Given the description of an element on the screen output the (x, y) to click on. 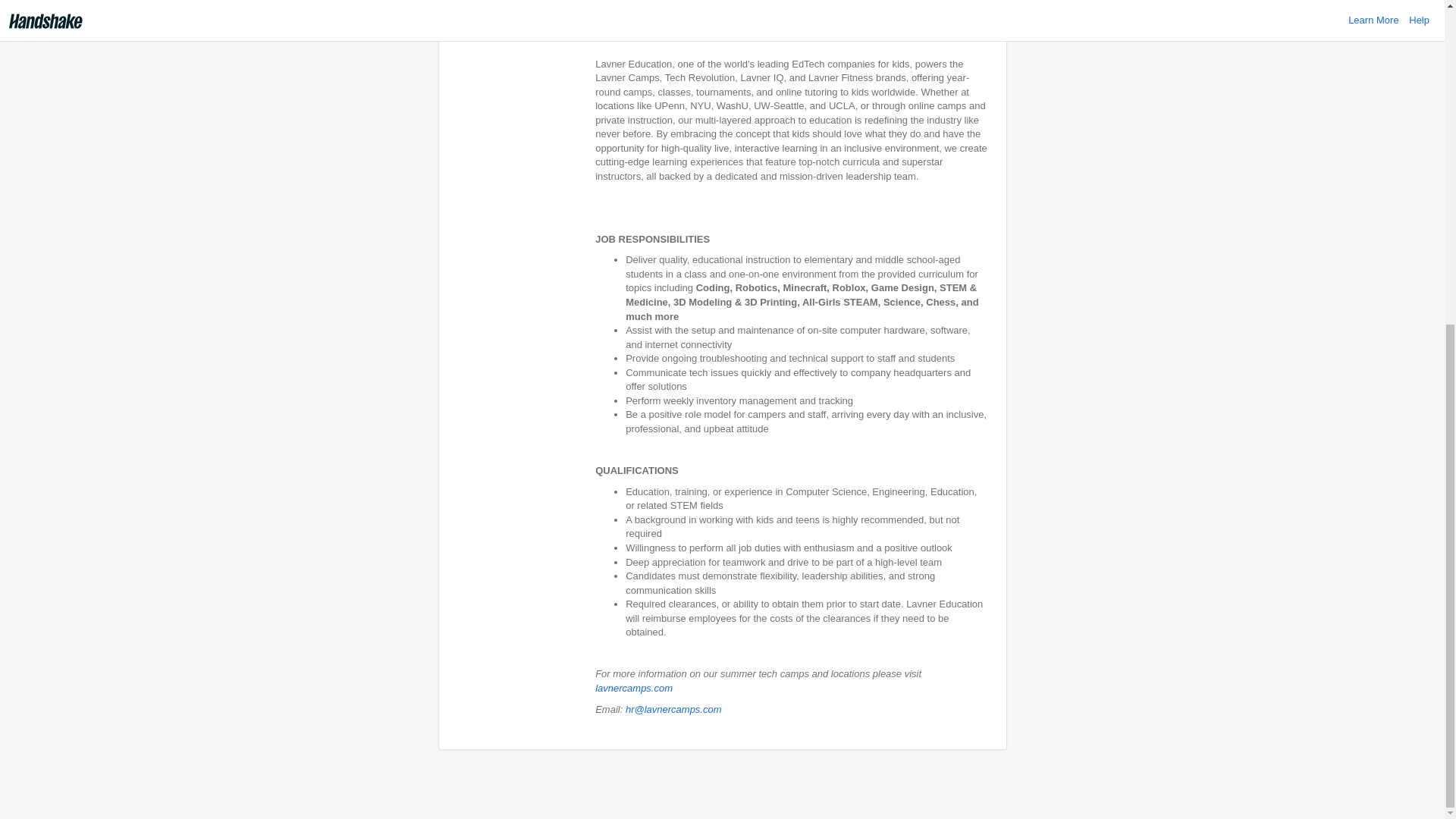
lavnercamps.com (633, 687)
